Given the description of an element on the screen output the (x, y) to click on. 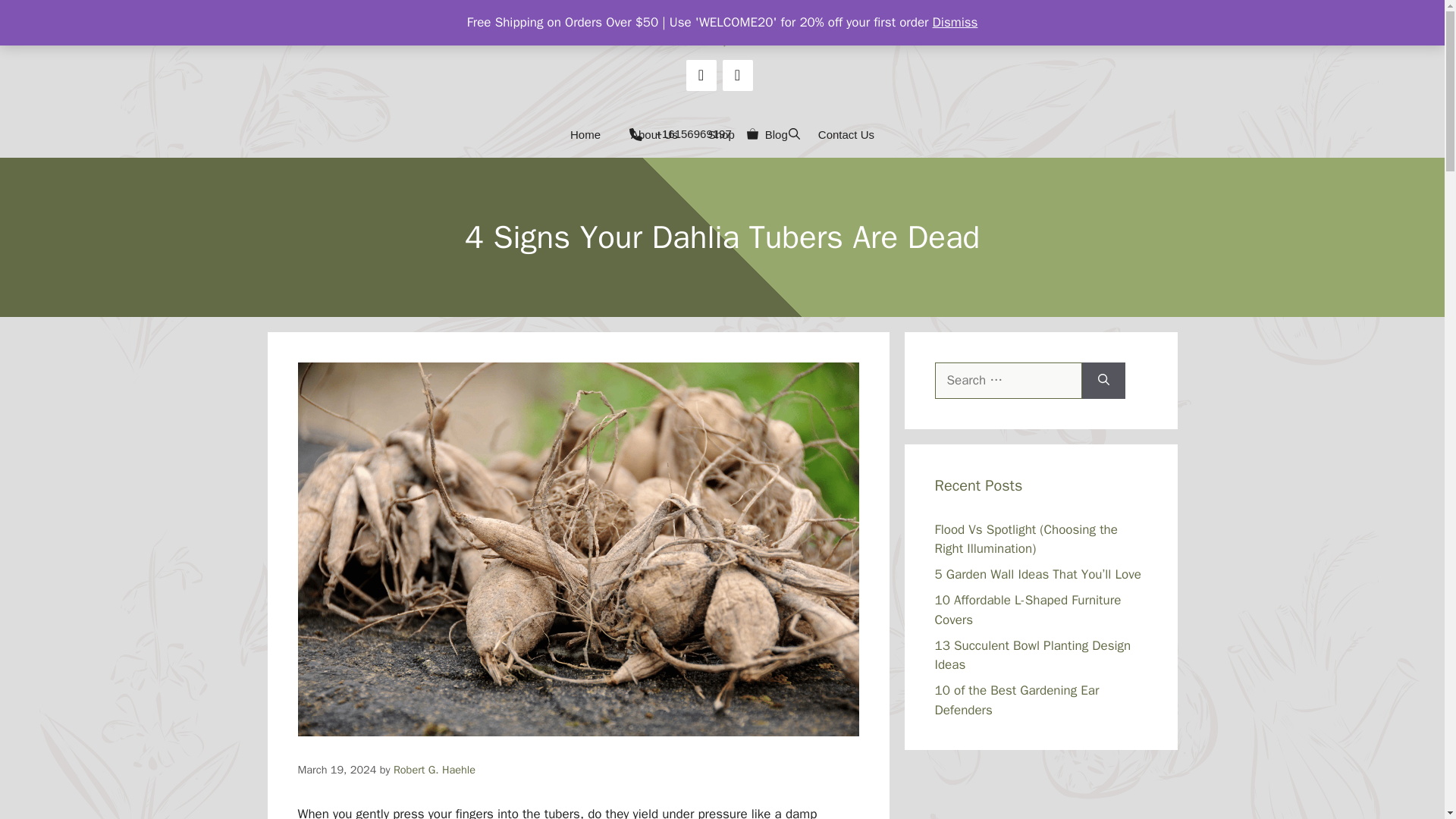
Facebook (700, 74)
Instagram (737, 74)
10 of the Best Gardening Ear Defenders (1016, 700)
Robert G. Haehle (434, 769)
10 Affordable L-Shaped Furniture Covers (1027, 610)
Home (584, 135)
13 Succulent Bowl Planting Design Ideas (1032, 654)
Shop (721, 135)
Blog (776, 135)
Search for: (1007, 380)
Contact Us (846, 135)
About Us (654, 135)
View your shopping cart (752, 135)
View all posts by Robert G. Haehle (434, 769)
